Given the description of an element on the screen output the (x, y) to click on. 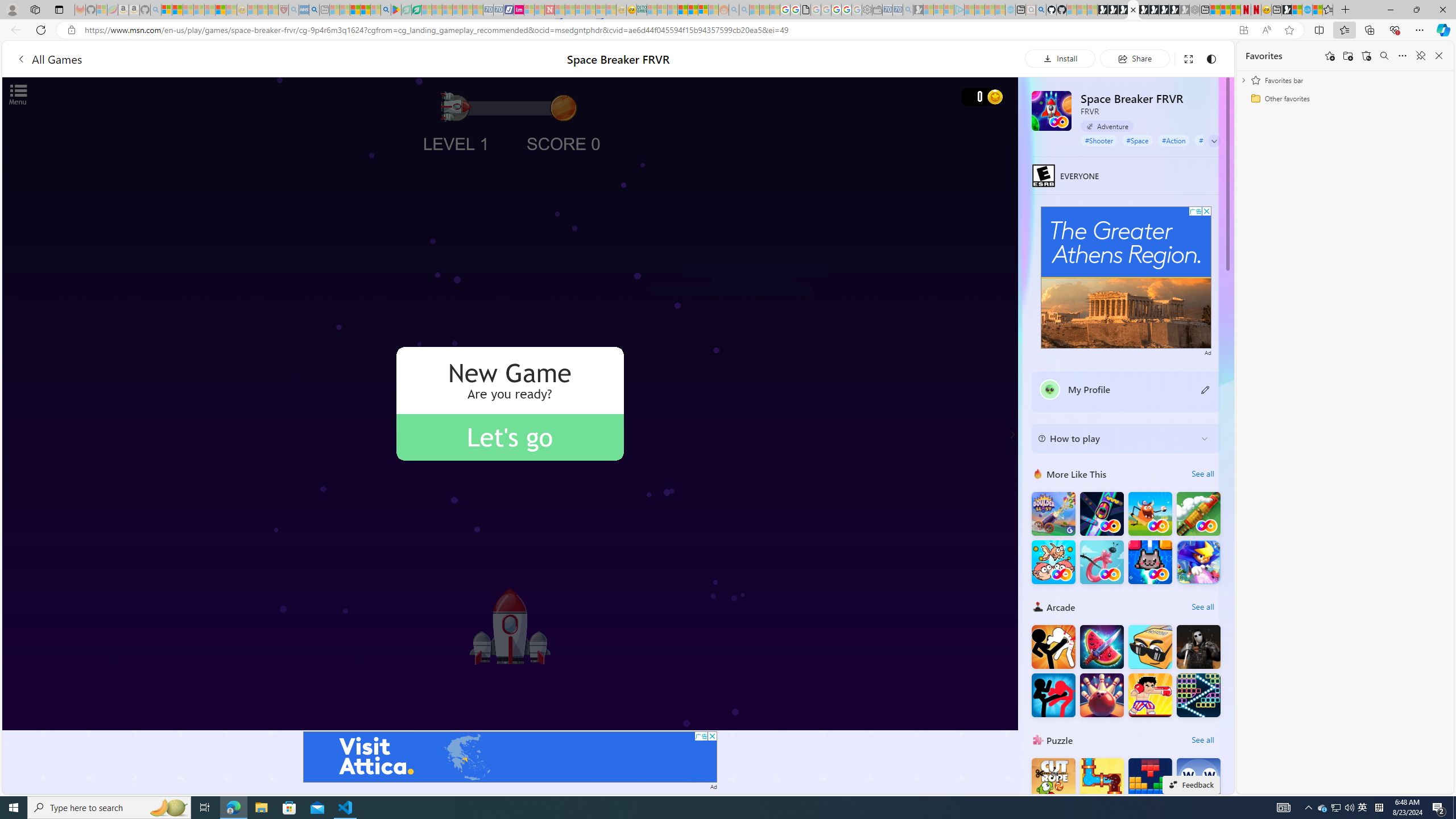
Jobs - lastminute.com Investor Portal (518, 9)
github - Search (1040, 9)
#Sci Fi (1208, 140)
